Given the description of an element on the screen output the (x, y) to click on. 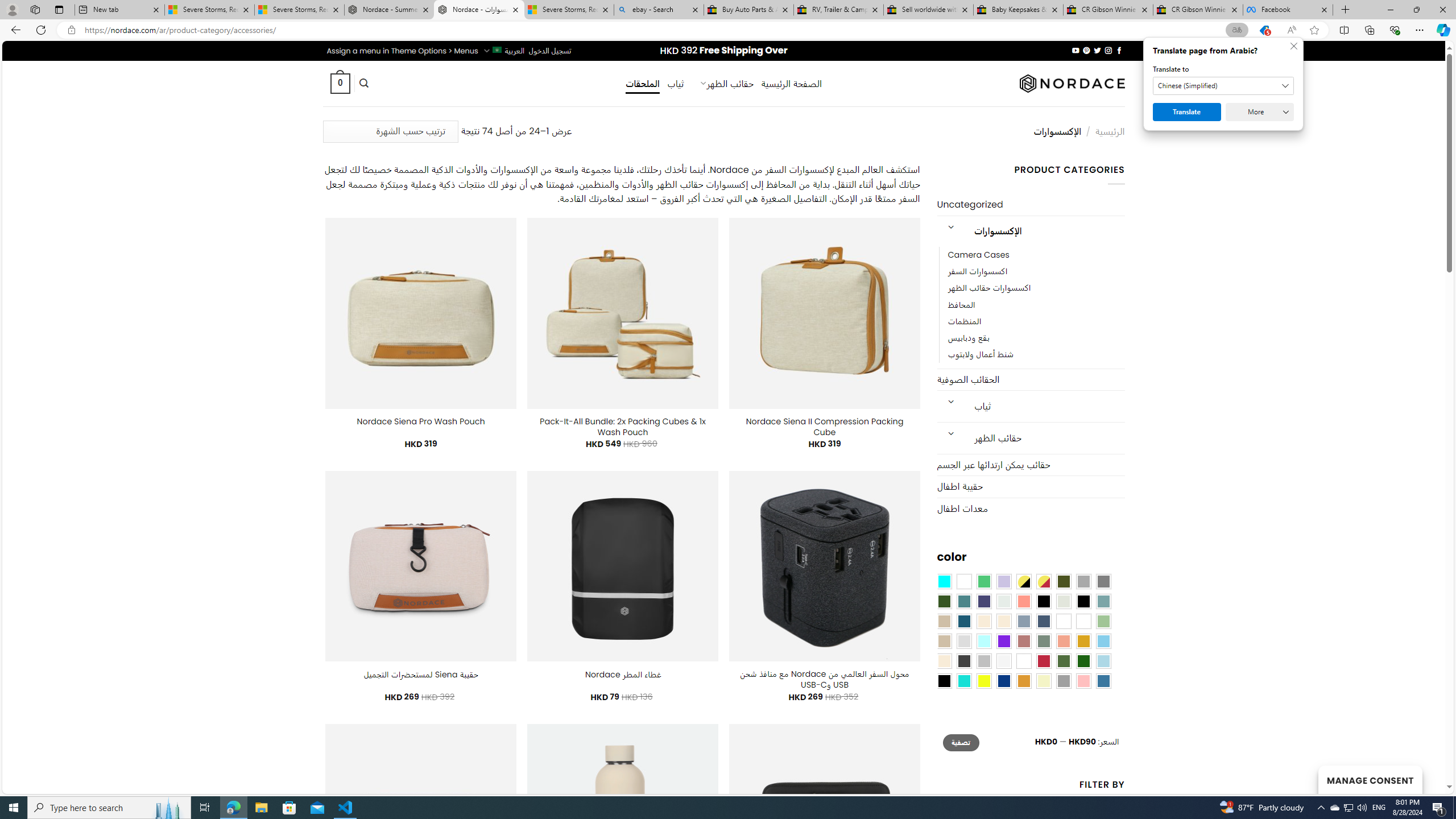
Nordace Siena Pro Wash Pouch (420, 421)
Yellow-Black (1023, 581)
More (1259, 112)
Light Green (1103, 621)
Camera Cases (1036, 254)
Capri Blue (963, 621)
Emerald Green (983, 581)
